Given the description of an element on the screen output the (x, y) to click on. 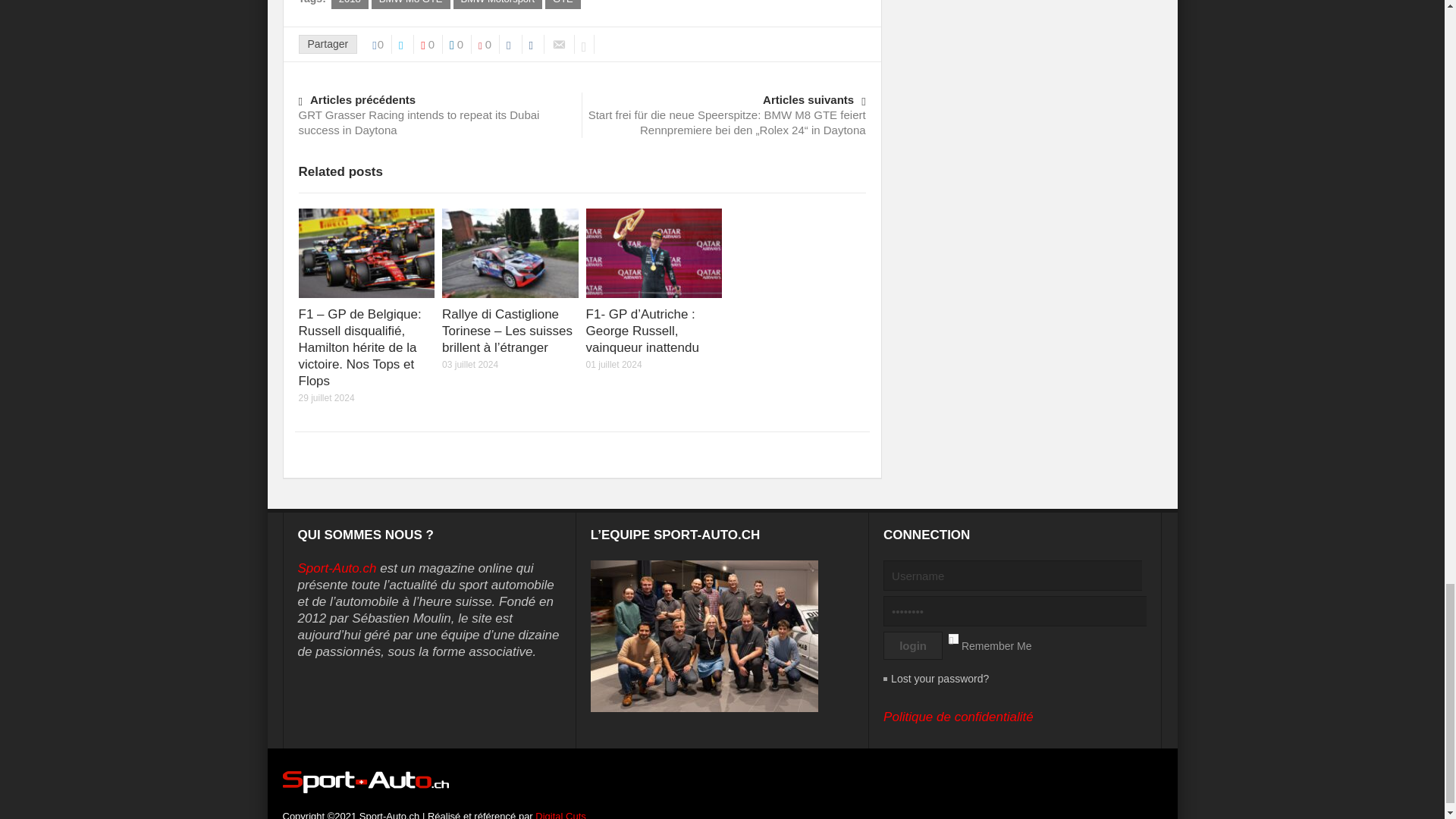
login (912, 645)
Username (1020, 575)
Password (1023, 611)
forever (952, 638)
